Given the description of an element on the screen output the (x, y) to click on. 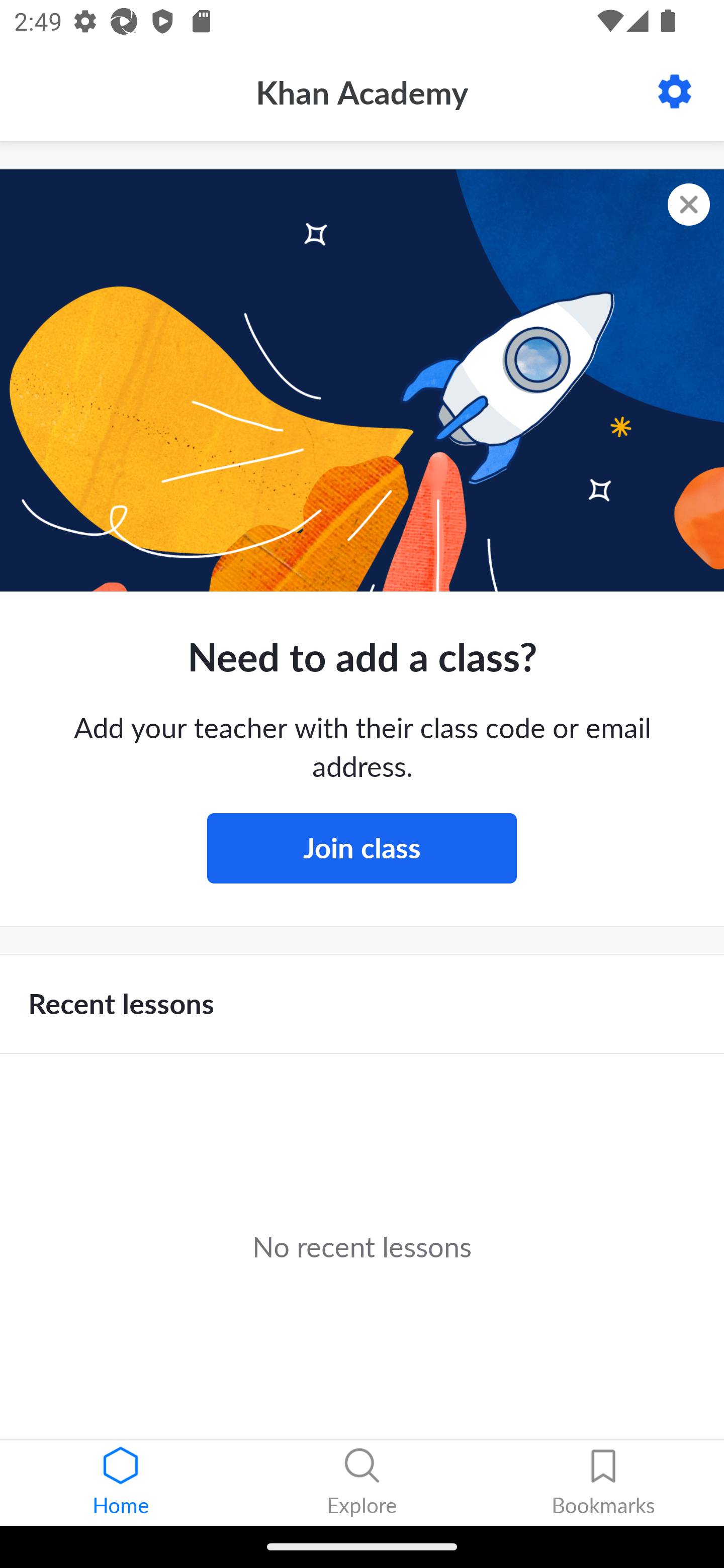
Settings (674, 91)
Dismiss (688, 204)
Join class (361, 847)
Home (120, 1482)
Explore (361, 1482)
Bookmarks (603, 1482)
